Given the description of an element on the screen output the (x, y) to click on. 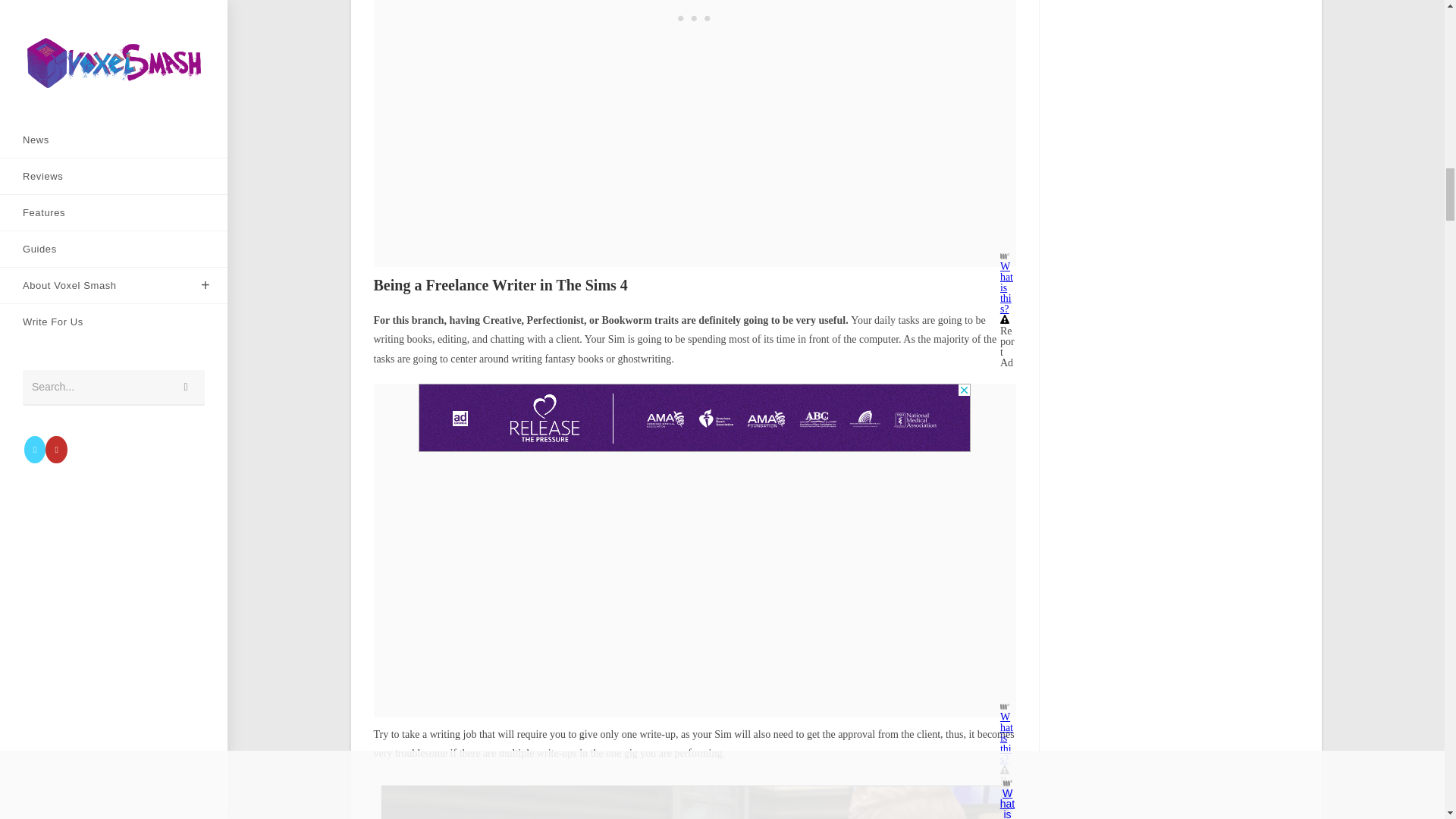
3rd party ad content (695, 418)
